Given the description of an element on the screen output the (x, y) to click on. 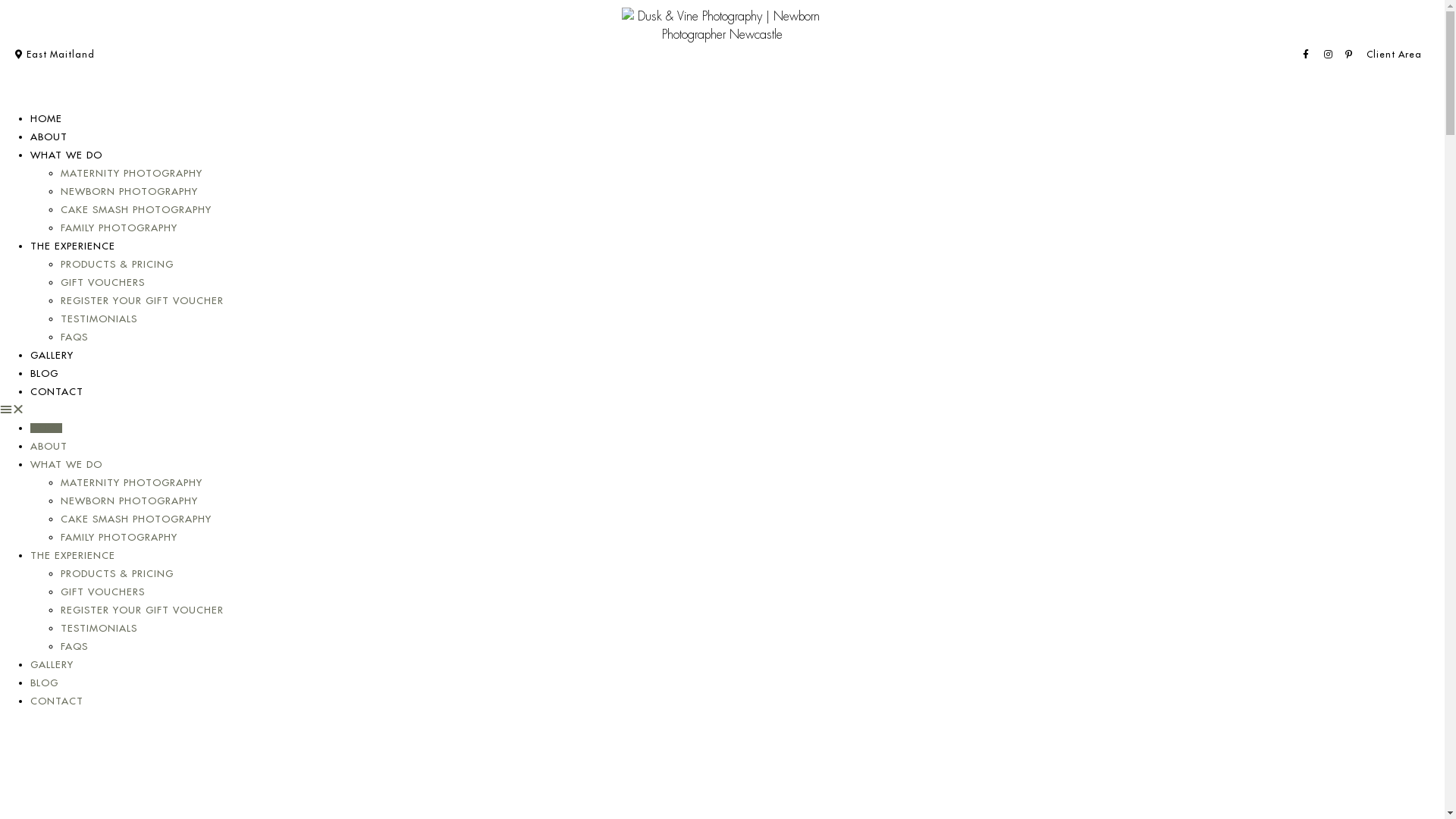
PRODUCTS & PRICING Element type: text (116, 264)
HOME Element type: text (46, 428)
REGISTER YOUR GIFT VOUCHER Element type: text (141, 300)
CAKE SMASH PHOTOGRAPHY Element type: text (135, 519)
NEWBORN PHOTOGRAPHY Element type: text (128, 500)
GIFT VOUCHERS Element type: text (102, 282)
FAQS Element type: text (73, 646)
THE EXPERIENCE Element type: text (72, 246)
REGISTER YOUR GIFT VOUCHER Element type: text (141, 610)
ABOUT Element type: text (48, 136)
CONTACT Element type: text (56, 391)
HOME Element type: text (46, 118)
NEWBORN PHOTOGRAPHY Element type: text (128, 191)
BLOG Element type: text (44, 682)
GALLERY Element type: text (51, 355)
MATERNITY PHOTOGRAPHY Element type: text (131, 173)
WHAT WE DO Element type: text (66, 155)
GIFT VOUCHERS Element type: text (102, 591)
Client Area Element type: text (1393, 54)
MATERNITY PHOTOGRAPHY Element type: text (131, 482)
GALLERY Element type: text (51, 664)
FAQS Element type: text (73, 337)
CAKE SMASH PHOTOGRAPHY Element type: text (135, 209)
FAMILY PHOTOGRAPHY Element type: text (118, 227)
THE EXPERIENCE Element type: text (72, 555)
CONTACT Element type: text (56, 701)
WHAT WE DO Element type: text (66, 464)
BLOG Element type: text (44, 373)
TESTIMONIALS Element type: text (98, 628)
FAMILY PHOTOGRAPHY Element type: text (118, 537)
TESTIMONIALS Element type: text (98, 318)
ABOUT Element type: text (48, 446)
PRODUCTS & PRICING Element type: text (116, 573)
